Given the description of an element on the screen output the (x, y) to click on. 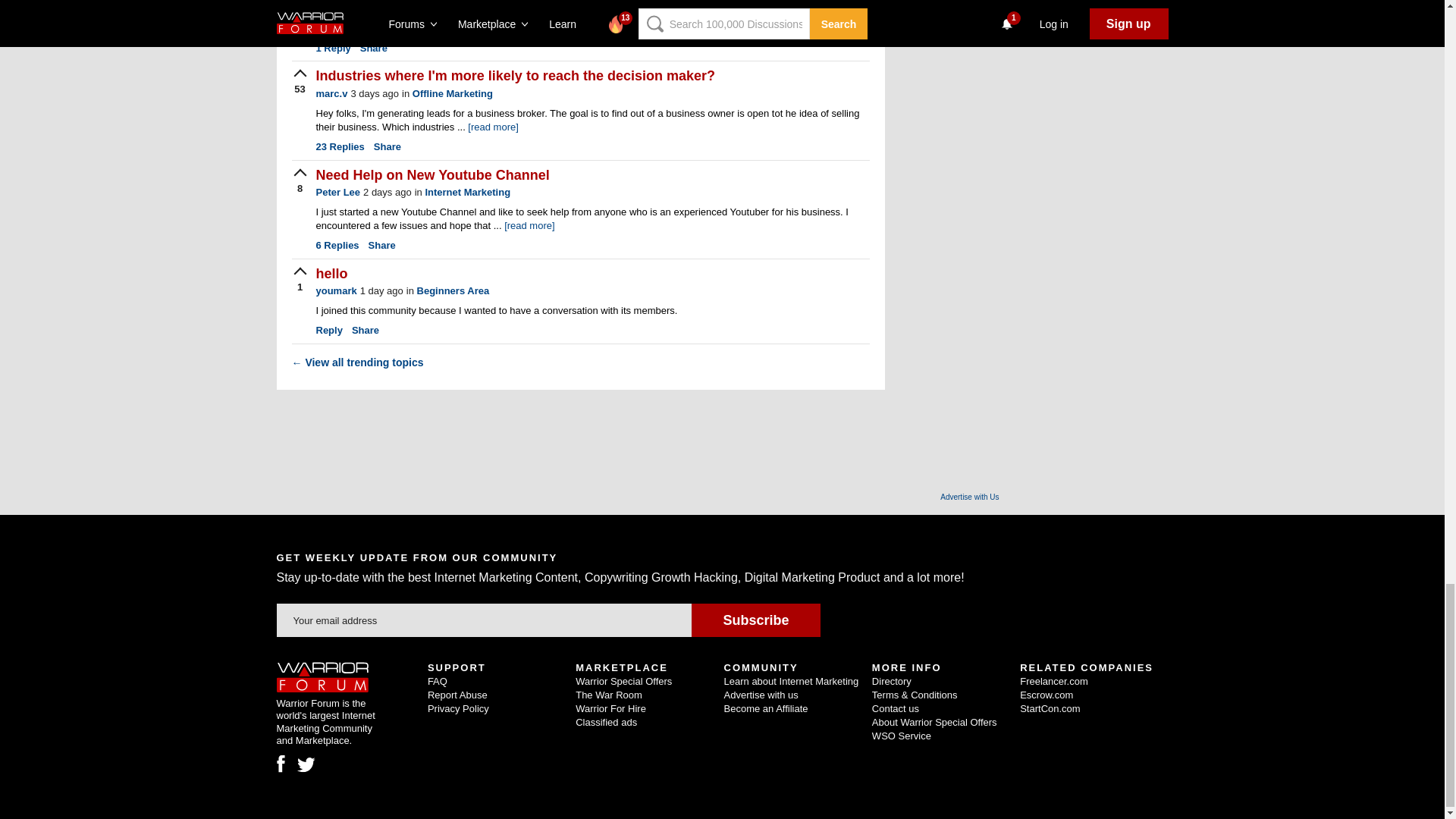
Bird (306, 765)
Subscribe (755, 620)
